Given the description of an element on the screen output the (x, y) to click on. 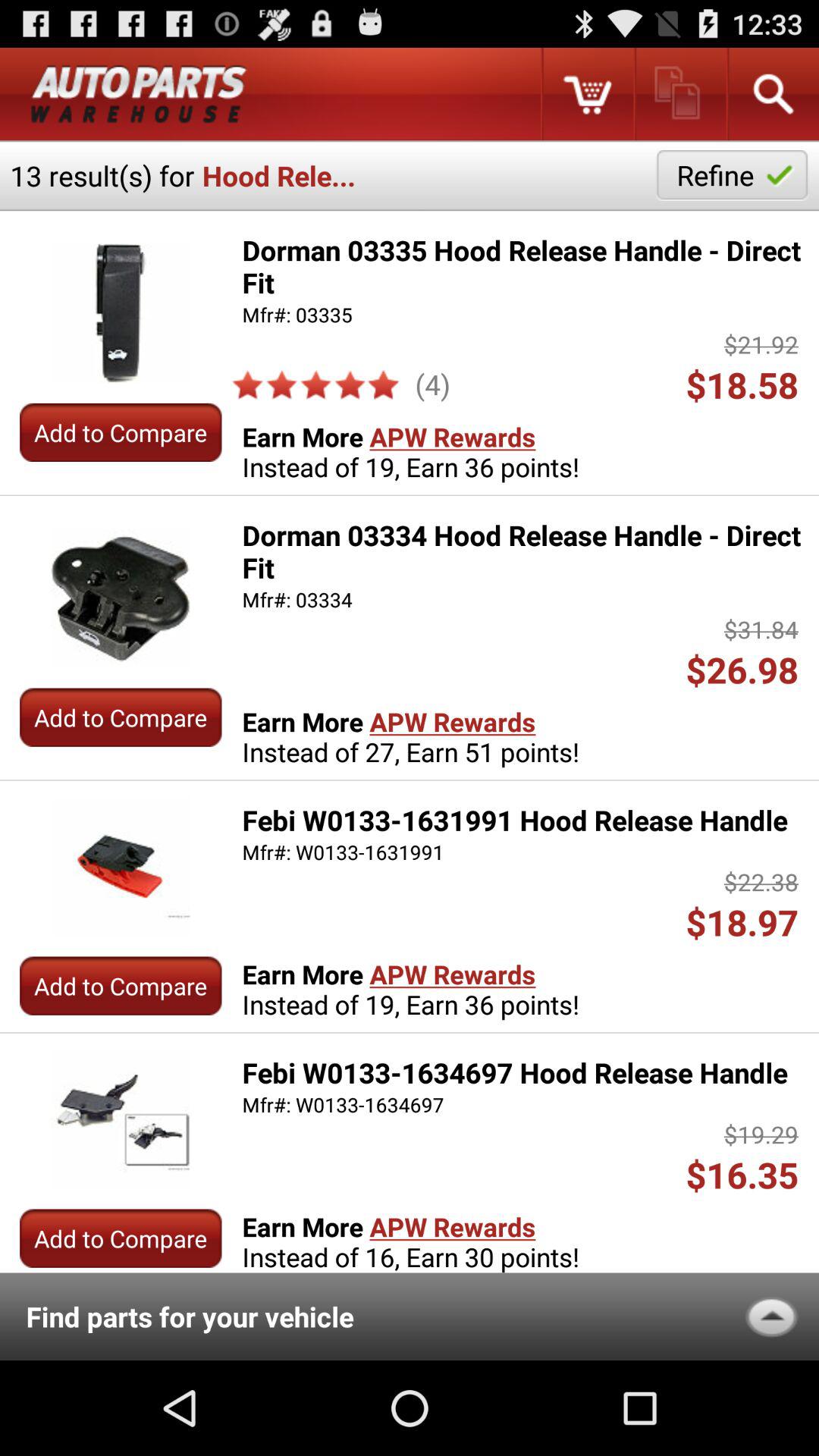
copy option (679, 93)
